Given the description of an element on the screen output the (x, y) to click on. 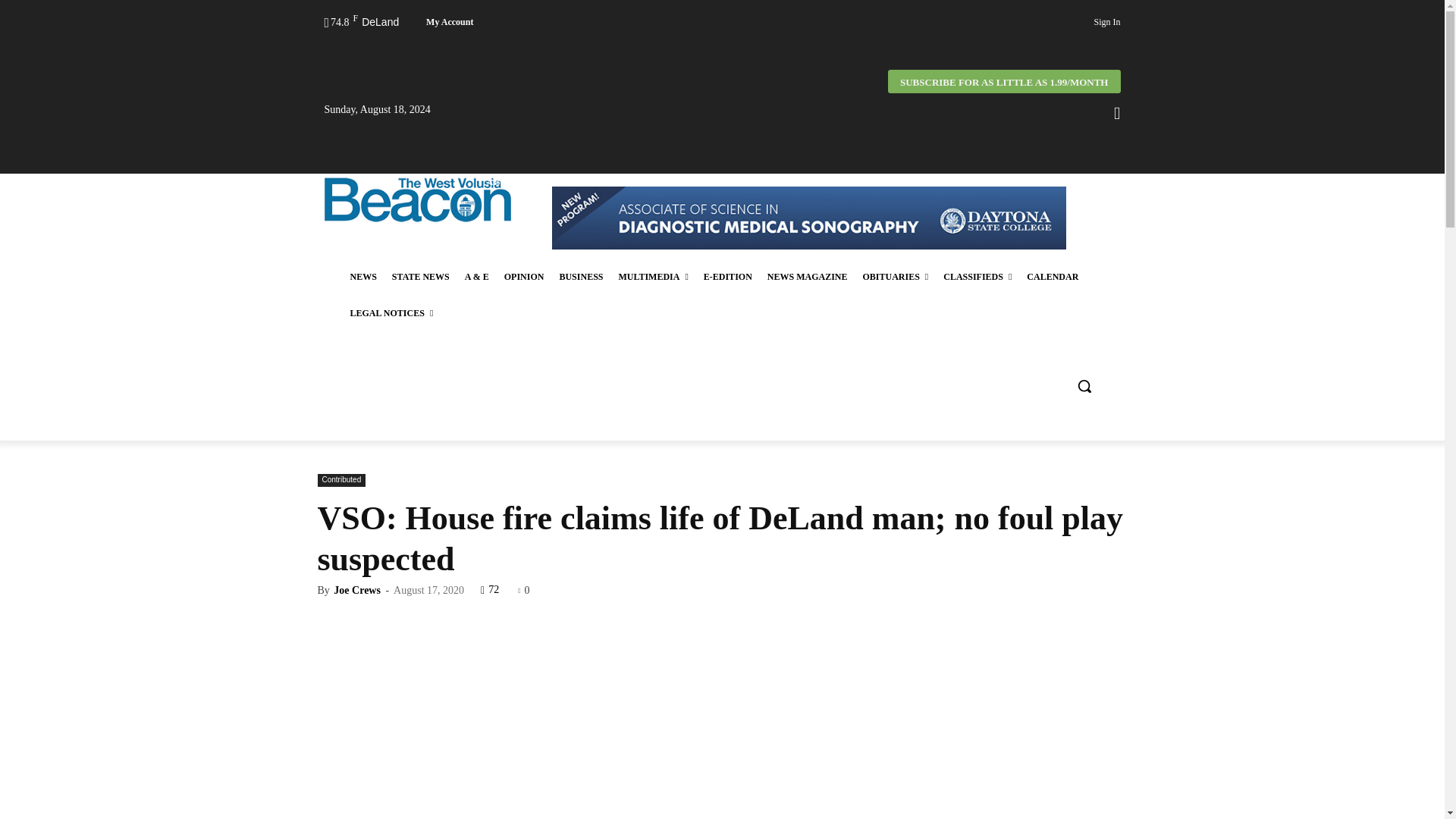
Sign In (1106, 21)
My Account (449, 21)
The West Volusia Beacon (417, 199)
